Given the description of an element on the screen output the (x, y) to click on. 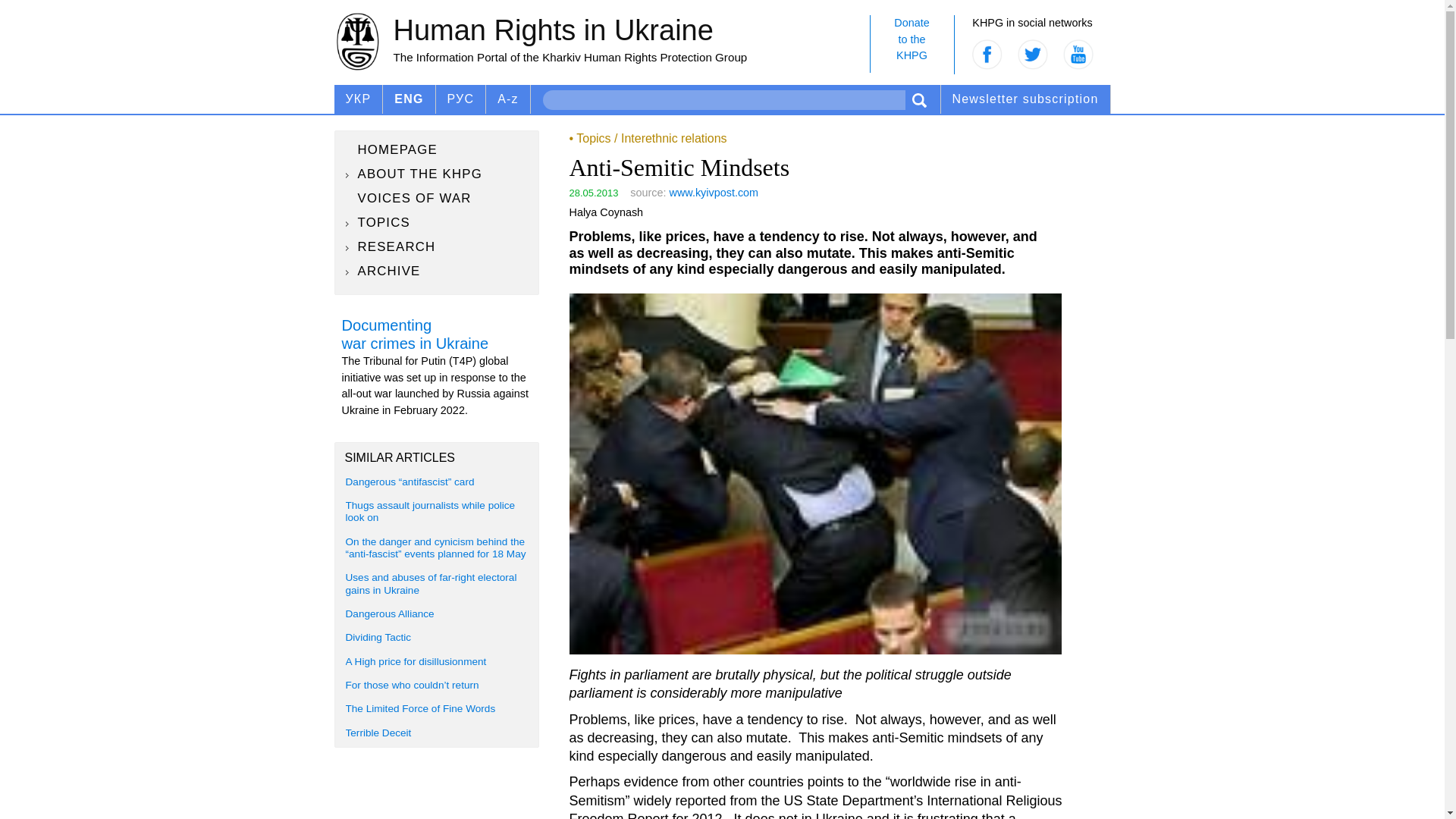
Newsletter subscription (1024, 99)
VOICES OF WAR (911, 43)
HOMEPAGE (437, 198)
A-z (437, 149)
ABOUT THE KHPG (507, 99)
TOPICS (437, 174)
